Given the description of an element on the screen output the (x, y) to click on. 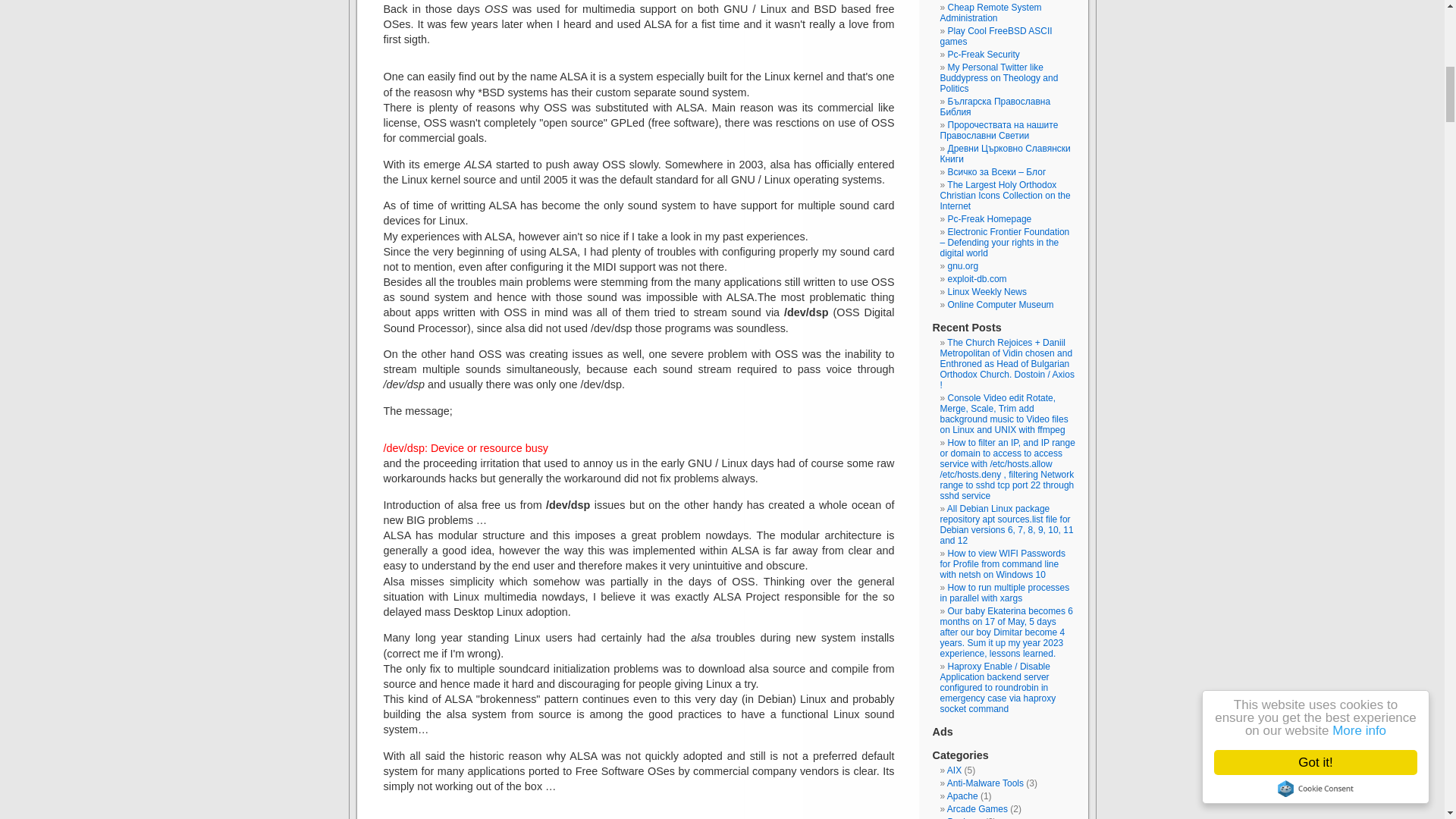
Cool ASCII games to play remotely on FreeBSD (996, 35)
